Given the description of an element on the screen output the (x, y) to click on. 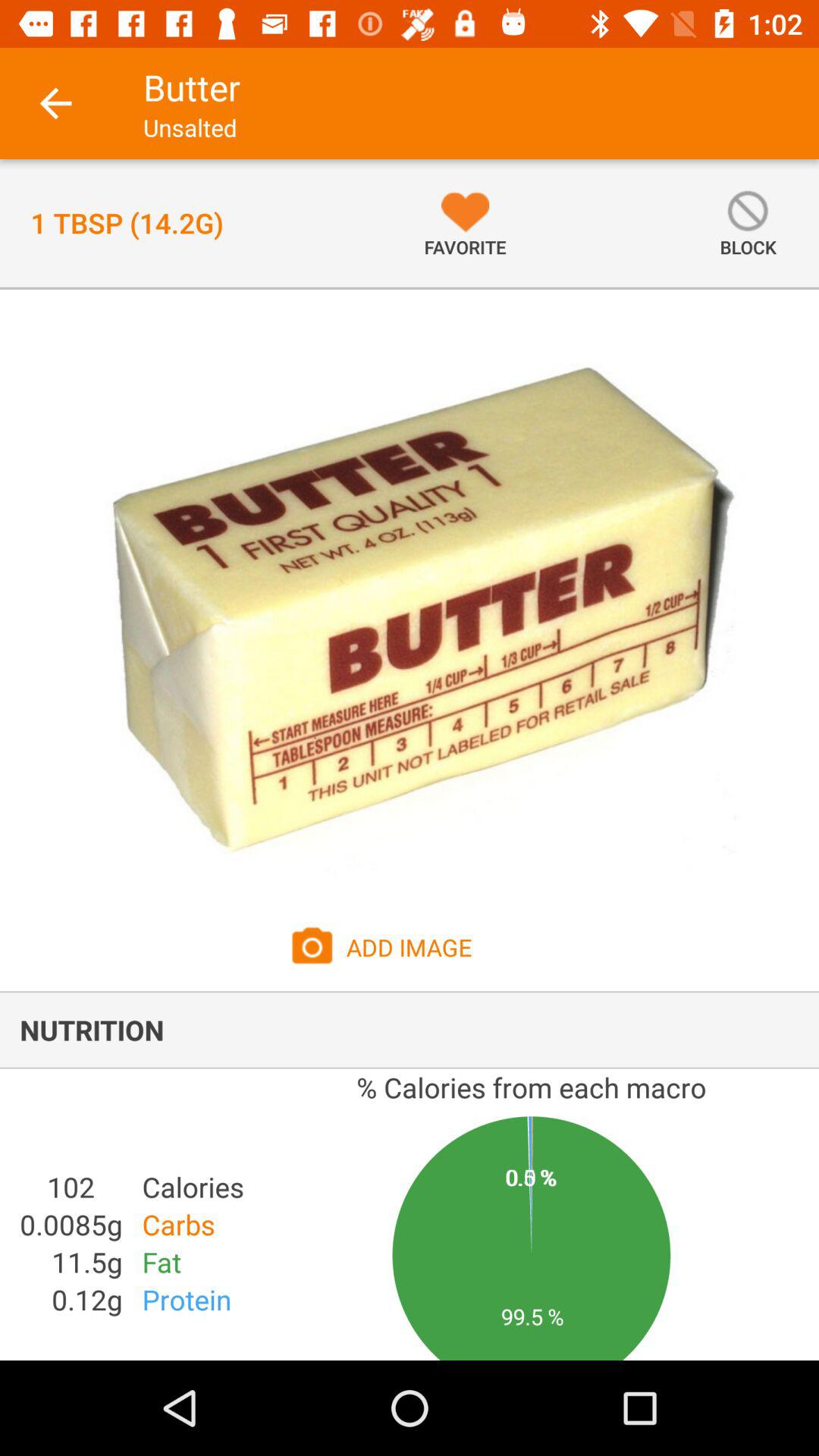
click icon next to favorite (748, 223)
